Given the description of an element on the screen output the (x, y) to click on. 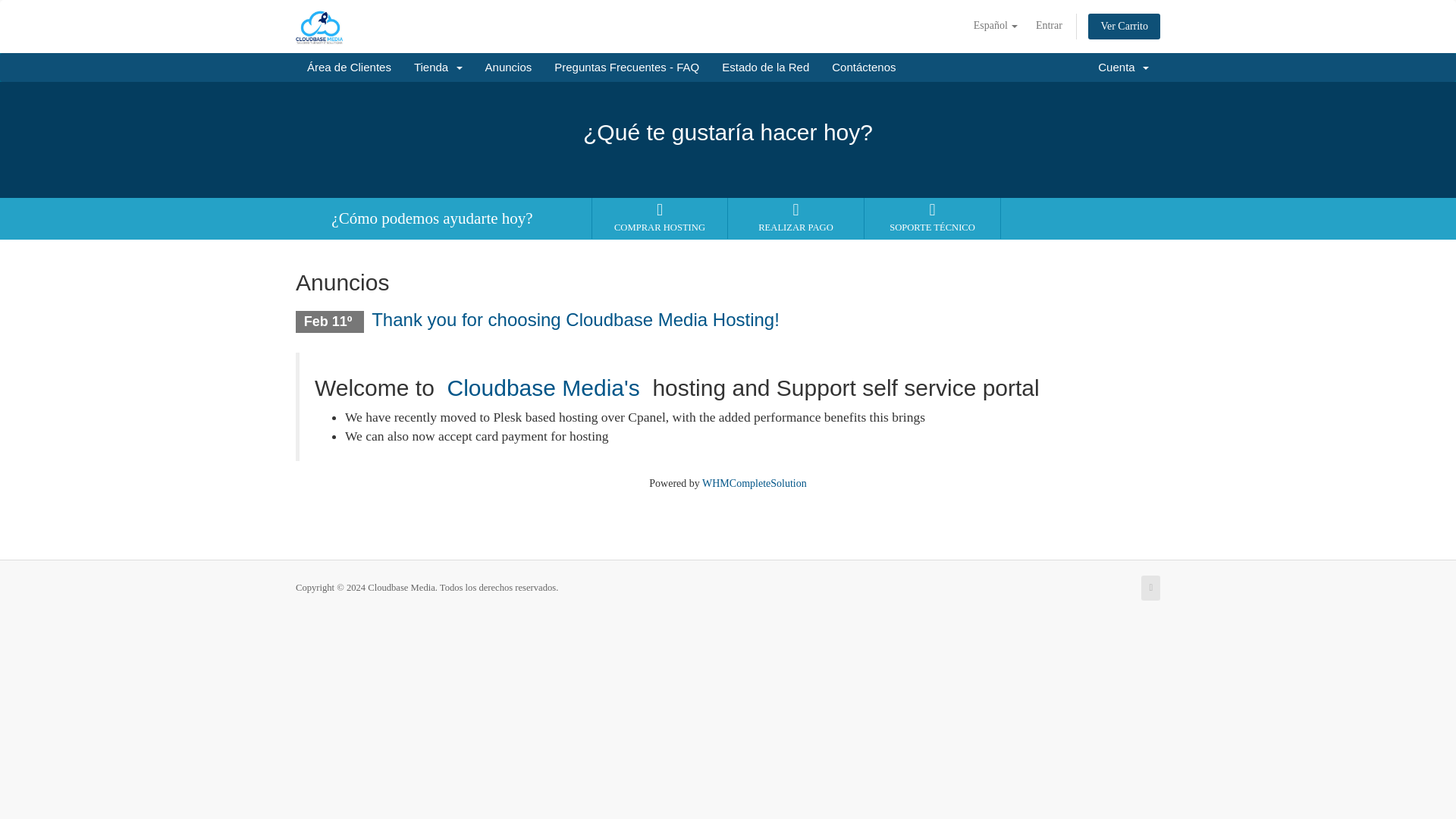
Tienda   (438, 67)
Cloudbase Media (546, 387)
Ver Carrito (1123, 26)
Entrar (1048, 25)
